Given the description of an element on the screen output the (x, y) to click on. 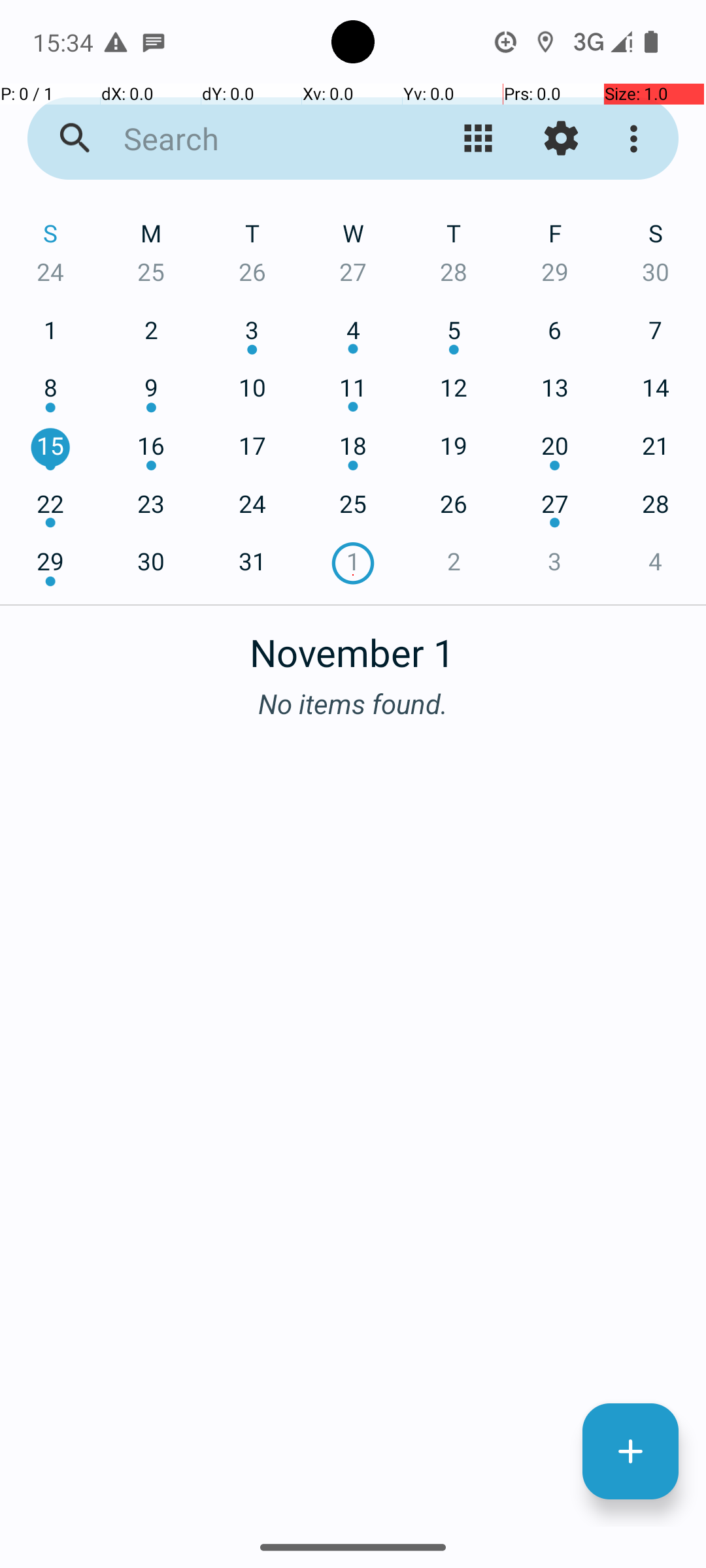
November 1 Element type: android.widget.TextView (352, 644)
